Given the description of an element on the screen output the (x, y) to click on. 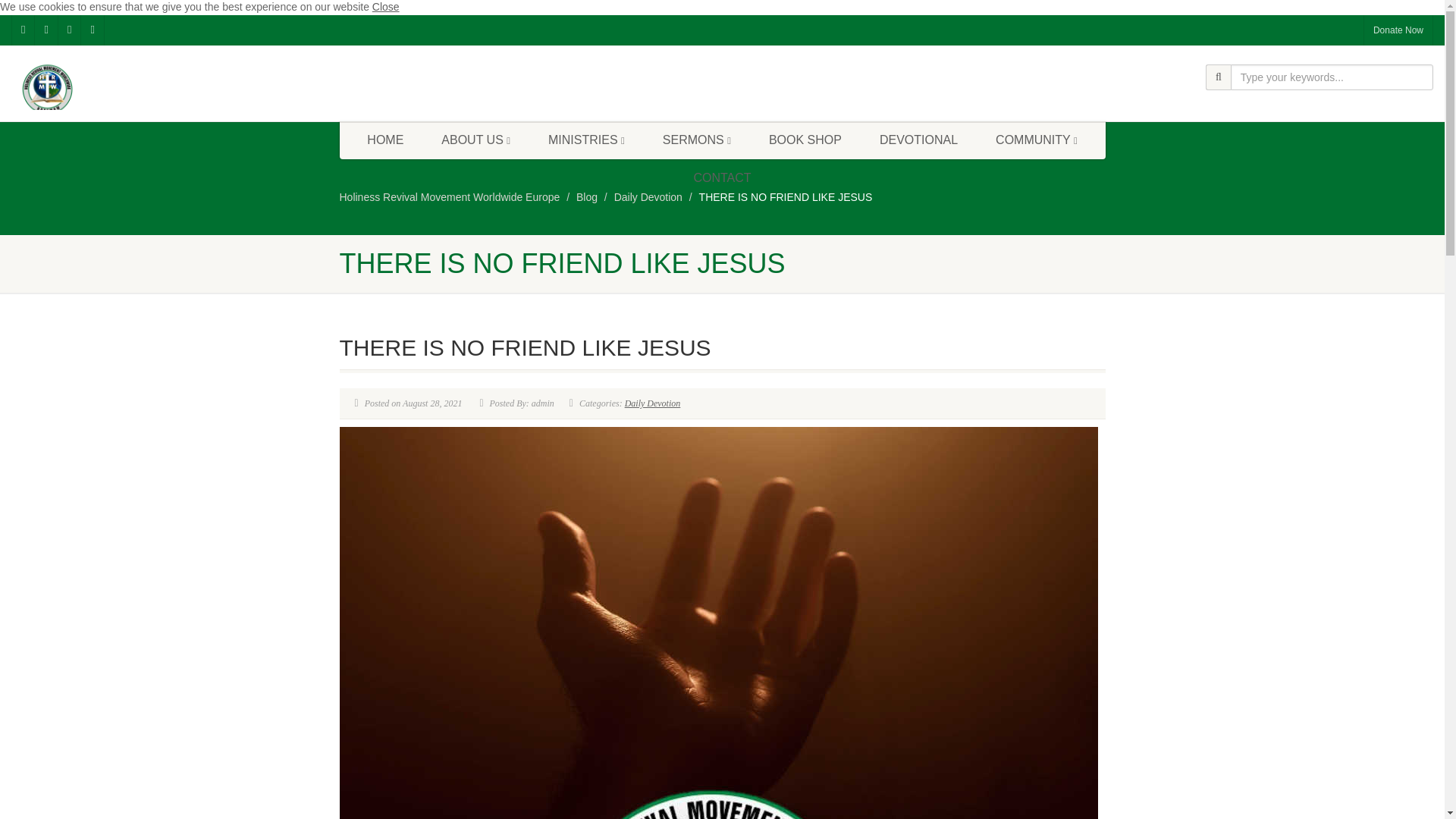
Holiness Revival Movement Worldwide Europe (449, 196)
CONTACT (722, 177)
Donate Now (1397, 30)
Go to the Daily Devotion Category archives. (648, 196)
Book Shop (804, 139)
Logo of Holiness Revival Movement Worldwide (240, 92)
Go to Holiness Revival Movement Worldwide Europe. (449, 196)
MINISTRIES (586, 139)
SERMONS (696, 139)
HOME (384, 139)
